Given the description of an element on the screen output the (x, y) to click on. 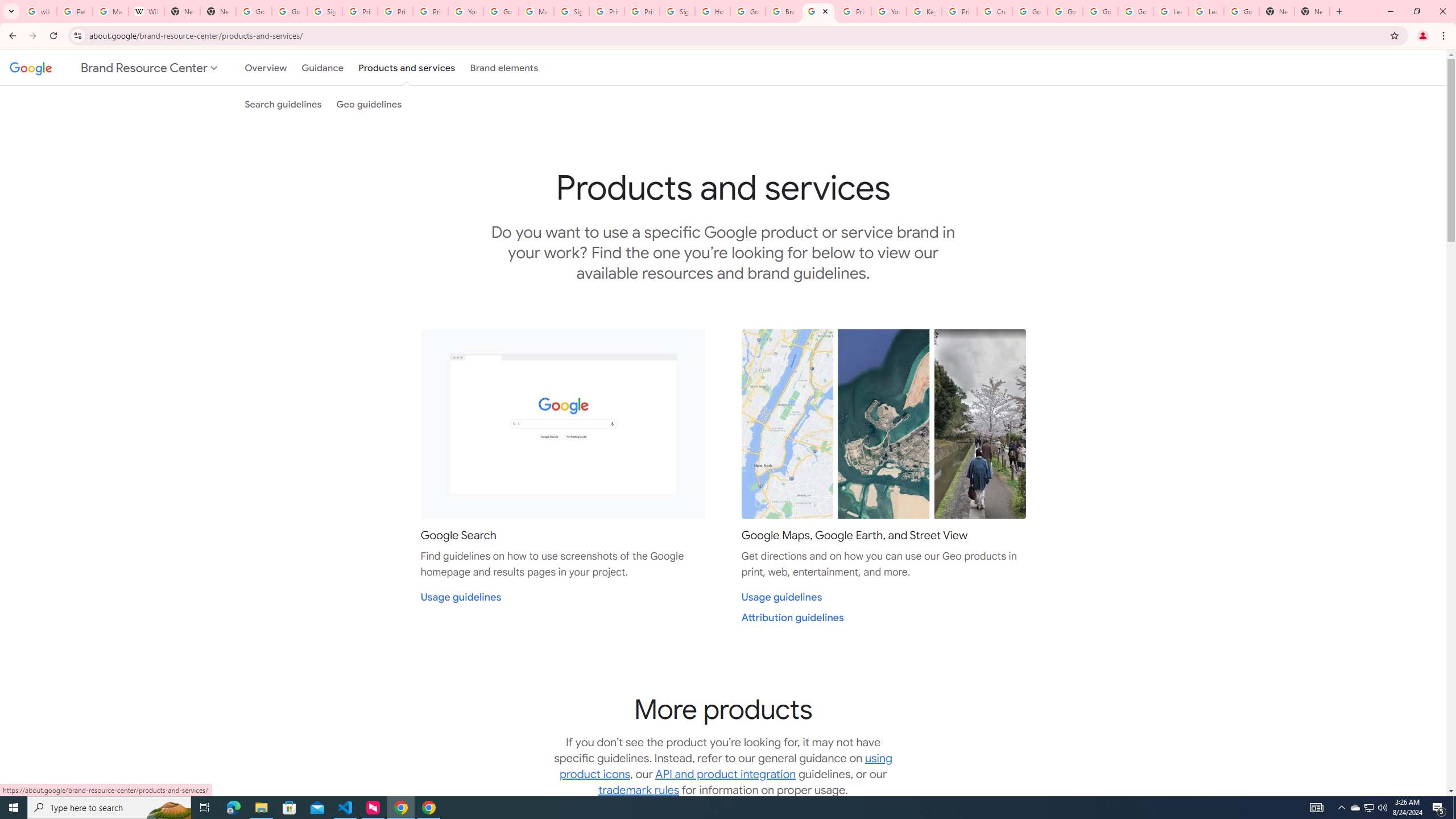
Google site switcher (114, 67)
Products and services (406, 67)
Create your Google Account (994, 11)
YouTube (888, 11)
Google Drive: Sign-in (288, 11)
trademark rules (638, 789)
Google Account Help (1029, 11)
Brand Resource Center (783, 11)
Brand elements (504, 67)
